Given the description of an element on the screen output the (x, y) to click on. 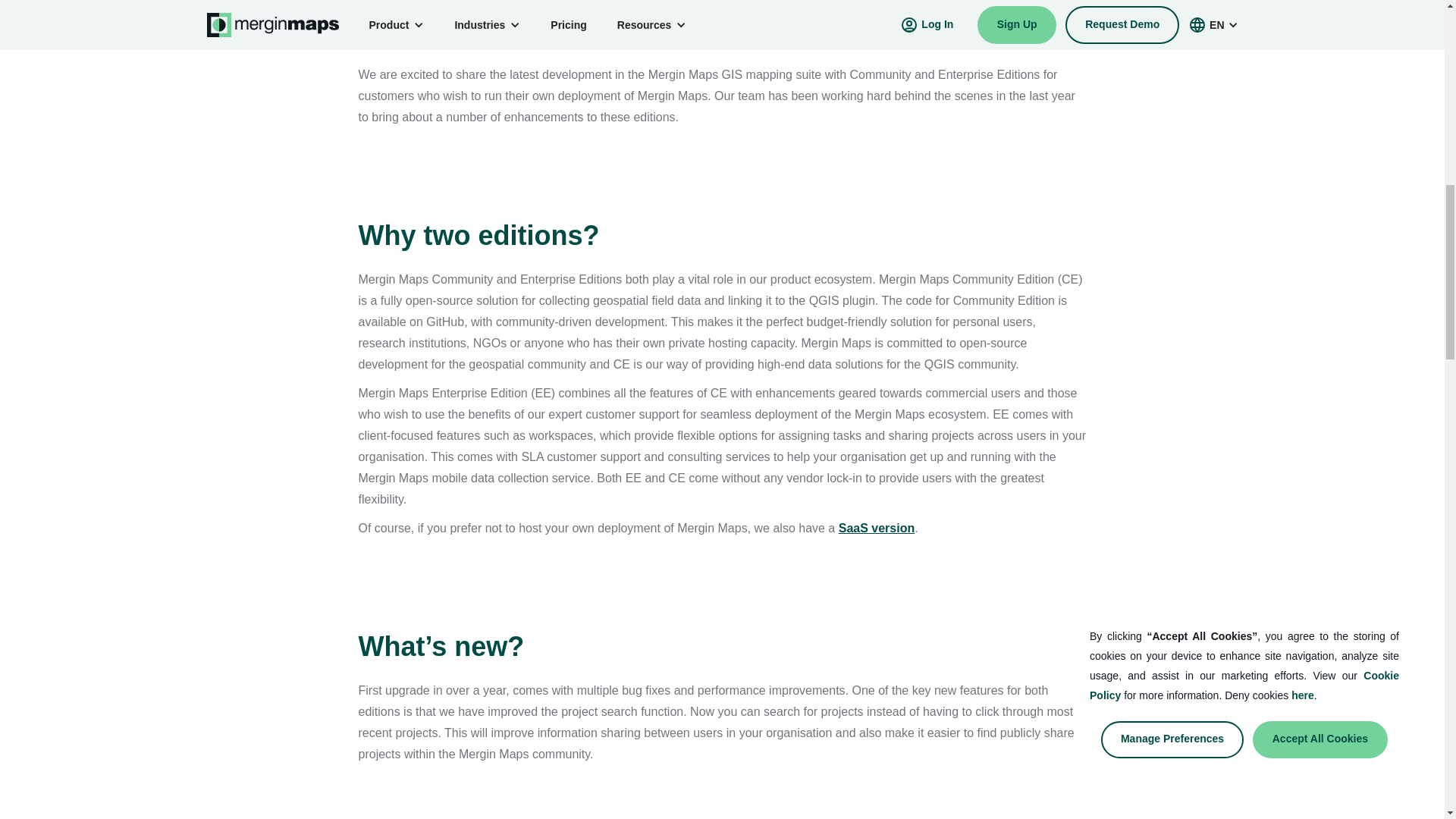
SaaS version (876, 527)
